Given the description of an element on the screen output the (x, y) to click on. 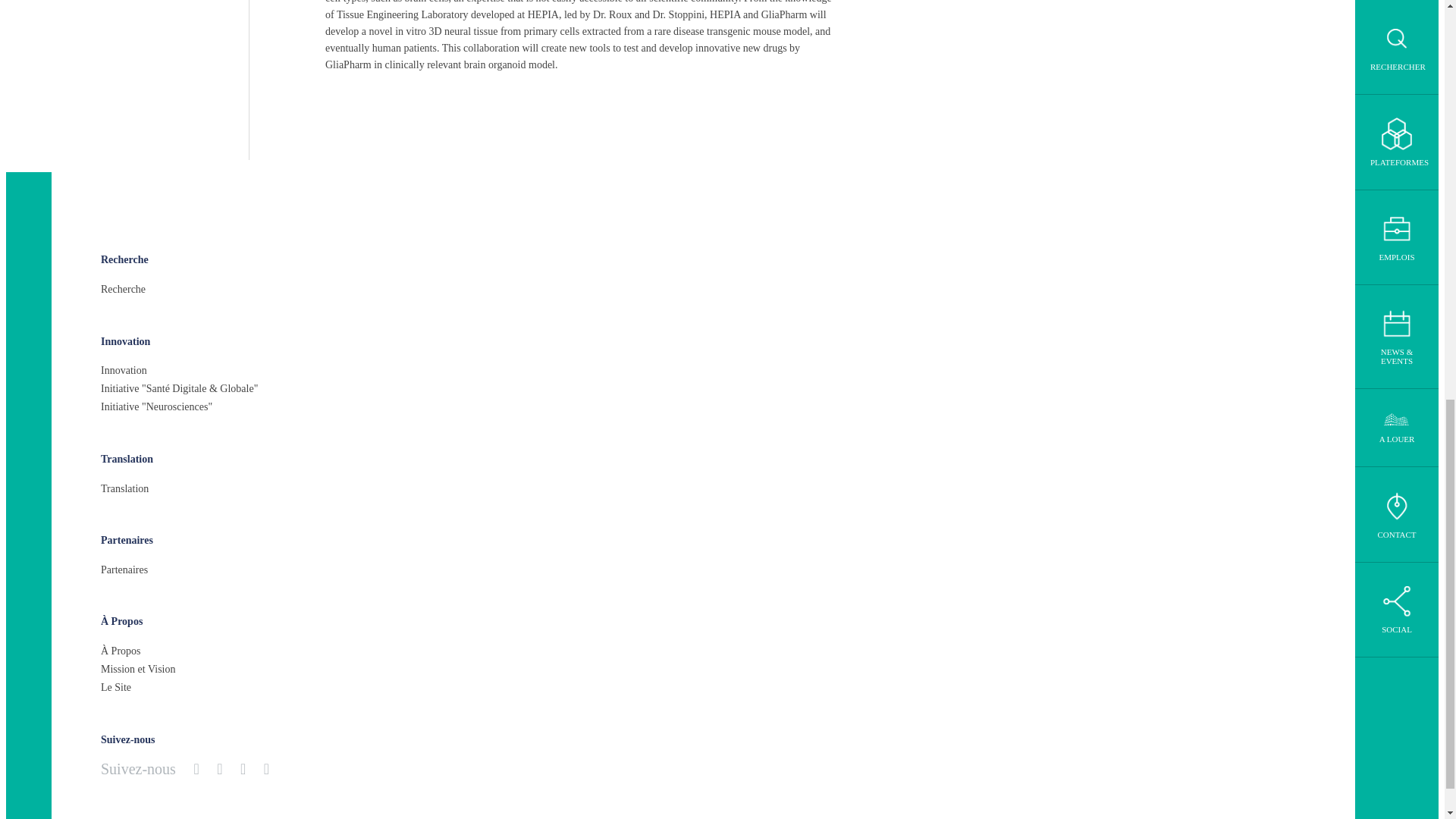
Recherche (122, 289)
Translation (126, 459)
Partenaires (124, 570)
Translation (124, 488)
Innovation (123, 370)
Recherche (124, 259)
Mission et Vision (137, 669)
Initiative "Neurosciences" (156, 407)
Innovation (124, 341)
Partenaires (126, 540)
